Given the description of an element on the screen output the (x, y) to click on. 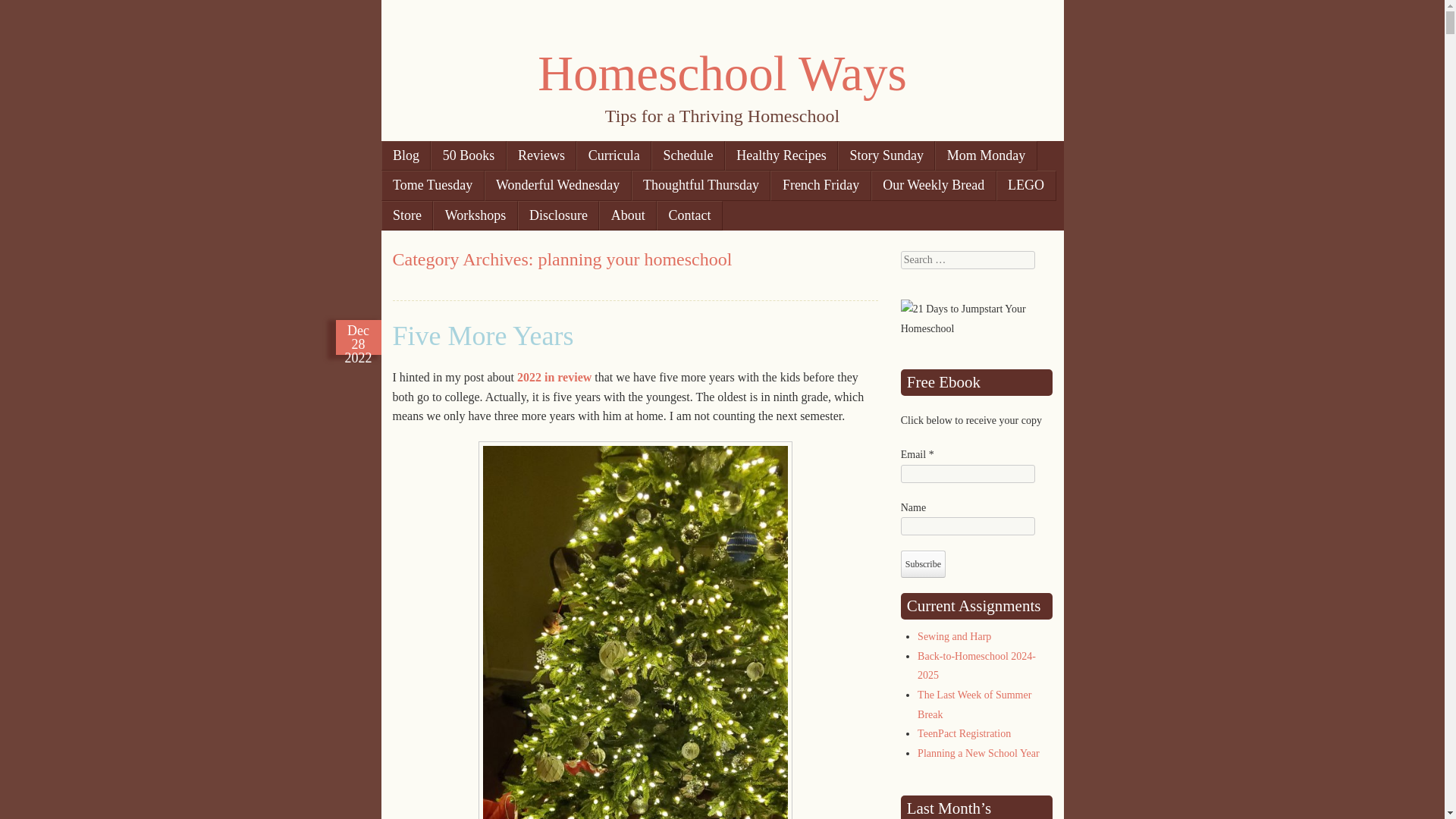
Permanent Link to Five More Years (358, 337)
Homeschool Ways (721, 72)
Dec 28 2022 (358, 337)
Our Weekly Bread (932, 184)
Store (406, 215)
Disclosure (558, 215)
Workshops (474, 215)
Curricula (613, 155)
Permalink to Five More Years (483, 336)
Story Sunday (886, 155)
